Given the description of an element on the screen output the (x, y) to click on. 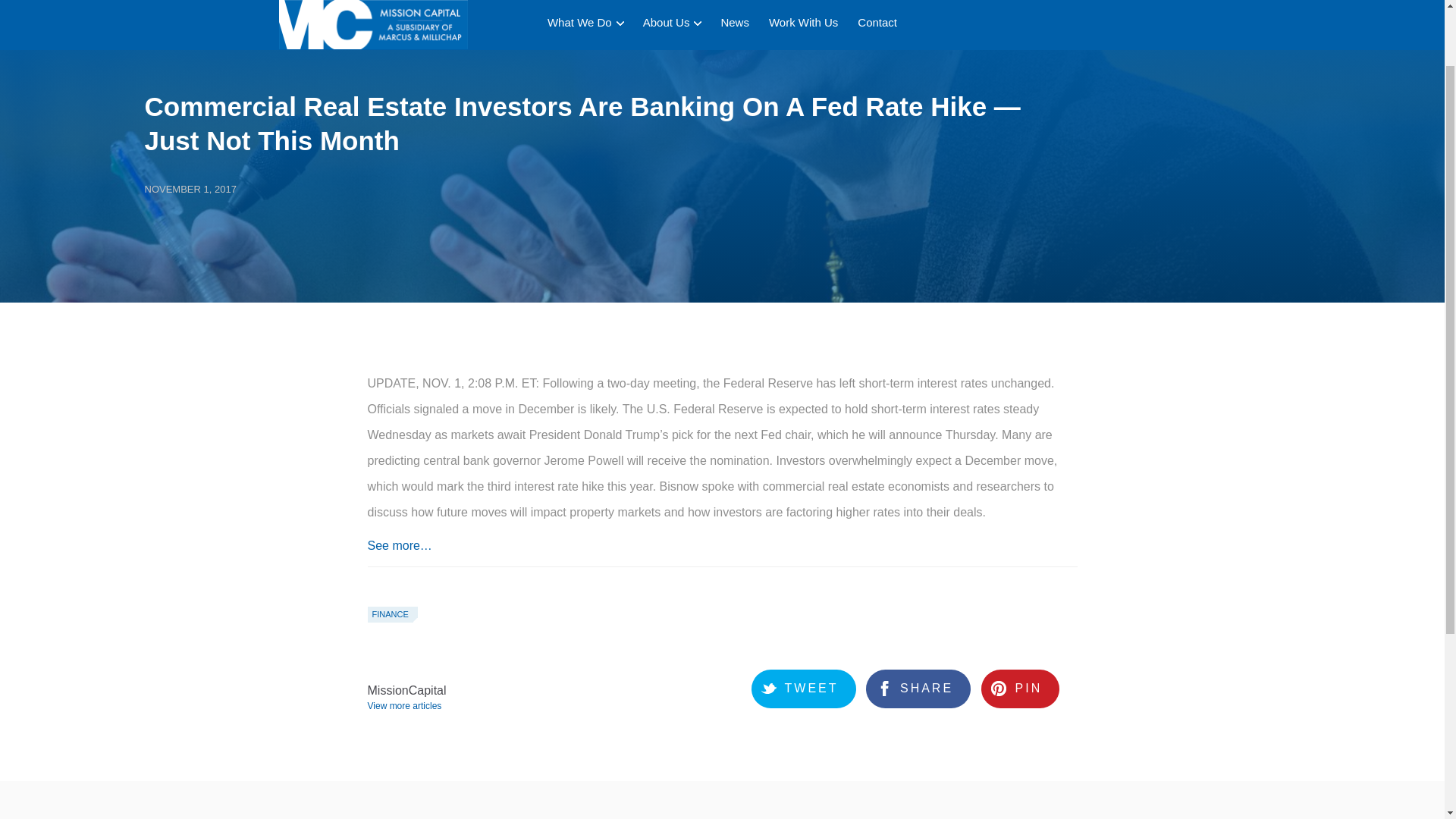
FINANCE (389, 614)
SHARE (918, 688)
TWEET (803, 688)
PIN (1020, 688)
View more articles (405, 706)
